Given the description of an element on the screen output the (x, y) to click on. 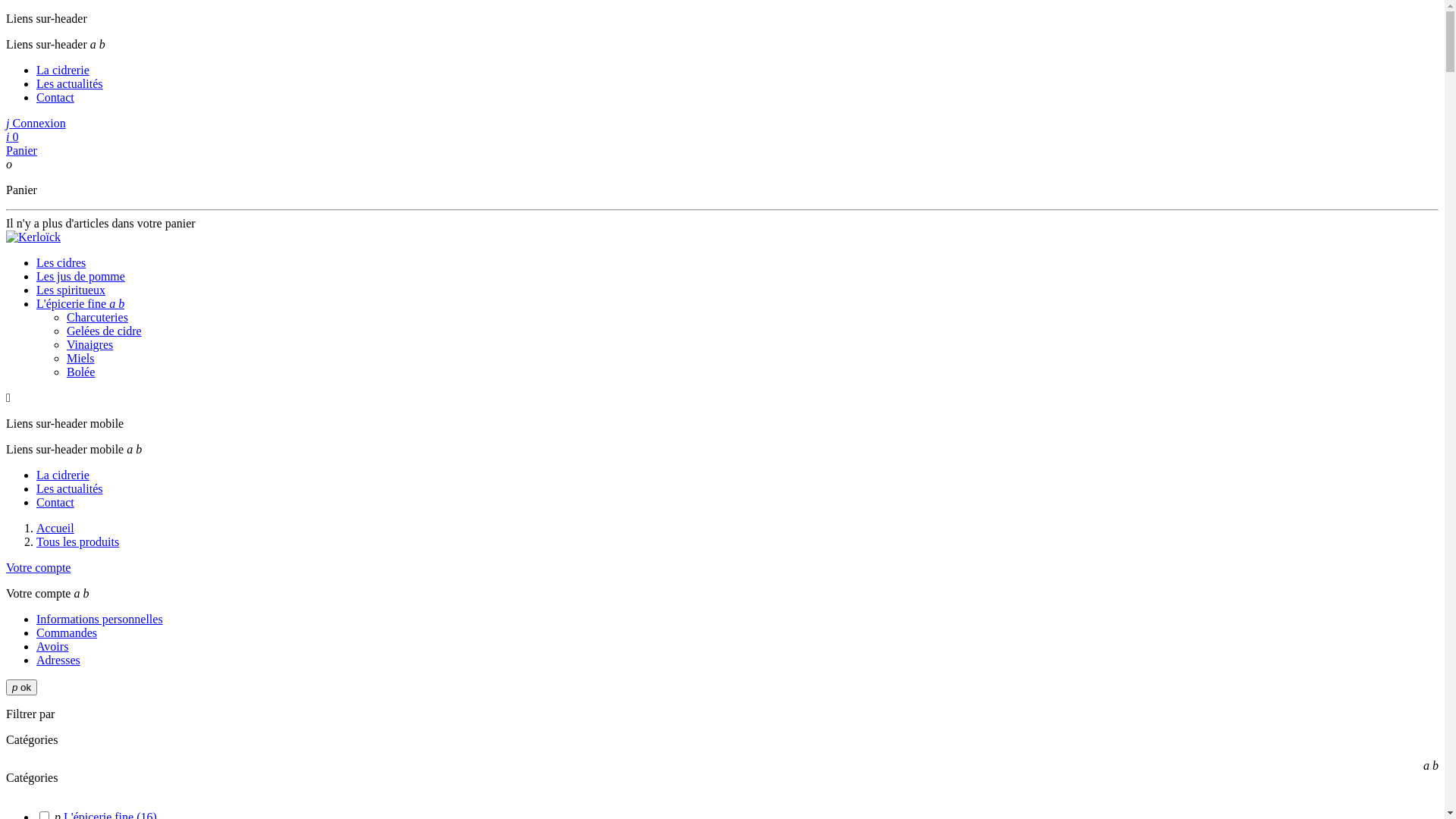
Les jus de pomme Element type: text (80, 275)
Contact Element type: text (55, 501)
Contact Element type: text (55, 97)
j Connexion Element type: text (35, 122)
Avoirs Element type: text (52, 646)
Charcuteries Element type: text (97, 316)
Accueil Element type: text (55, 527)
Tous les produits Element type: text (77, 541)
Miels Element type: text (80, 357)
Votre compte Element type: text (38, 567)
p ok Element type: text (21, 687)
Commandes Element type: text (66, 632)
Les cidres Element type: text (60, 262)
Informations personnelles Element type: text (99, 618)
Les spiritueux Element type: text (70, 289)
La cidrerie Element type: text (62, 474)
Vinaigres Element type: text (89, 344)
Adresses Element type: text (58, 659)
i 0
Panier Element type: text (722, 143)
La cidrerie Element type: text (62, 69)
